Given the description of an element on the screen output the (x, y) to click on. 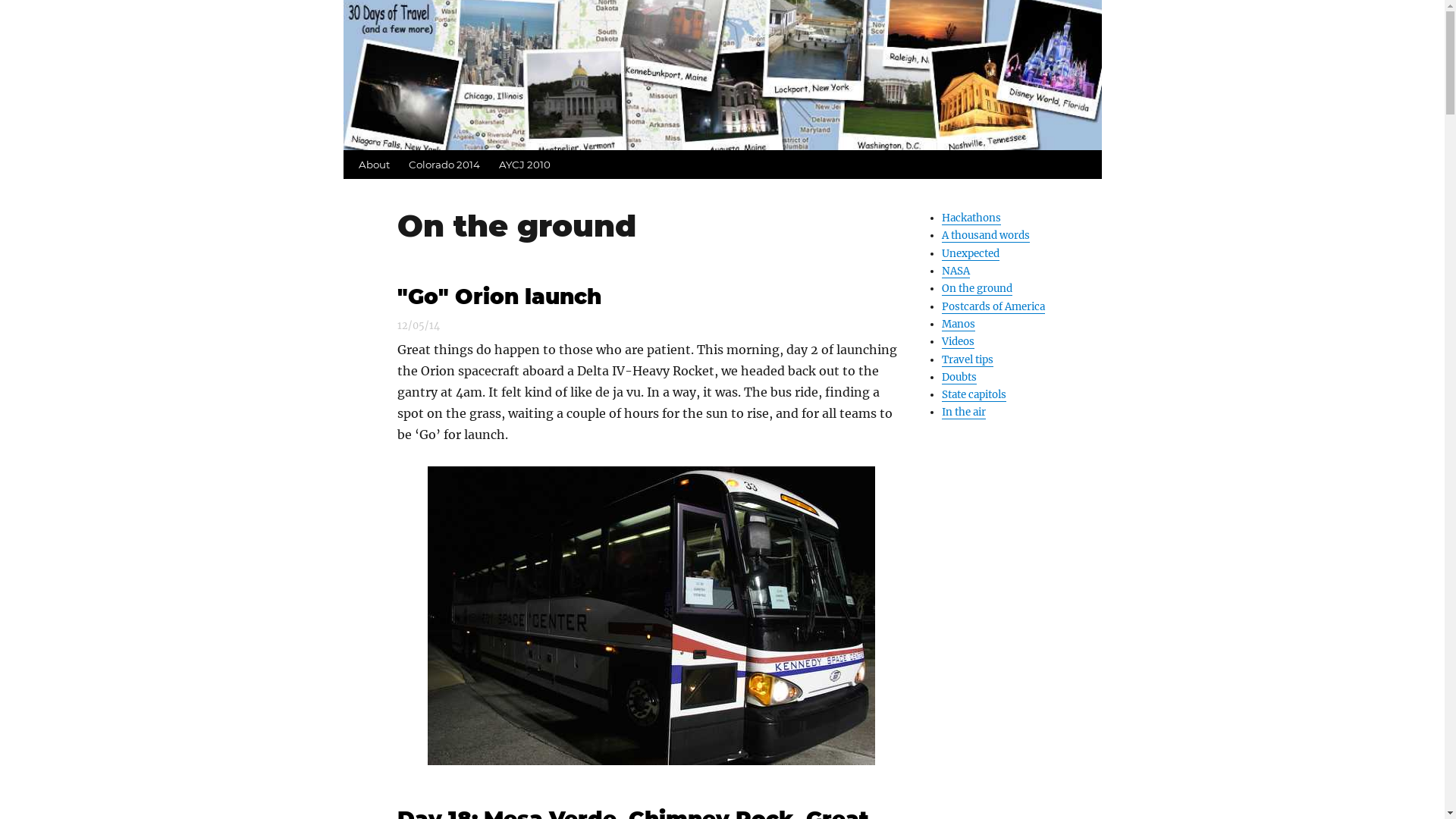
Manos Element type: text (958, 323)
State capitols Element type: text (973, 394)
Postcards of America Element type: text (992, 306)
On the ground Element type: text (976, 288)
Videos Element type: text (957, 341)
AYCJ 2010 Element type: text (524, 164)
Unexpected Element type: text (970, 253)
A thousand words Element type: text (985, 235)
"Go" Orion launch Element type: text (499, 296)
Hackathons Element type: text (971, 217)
In the air Element type: text (963, 411)
Photo Element type: hover (651, 615)
Travel tips Element type: text (967, 359)
NASA Element type: text (955, 270)
Colorado 2014 Element type: text (443, 164)
About Element type: text (373, 164)
Doubts Element type: text (958, 376)
